Given the description of an element on the screen output the (x, y) to click on. 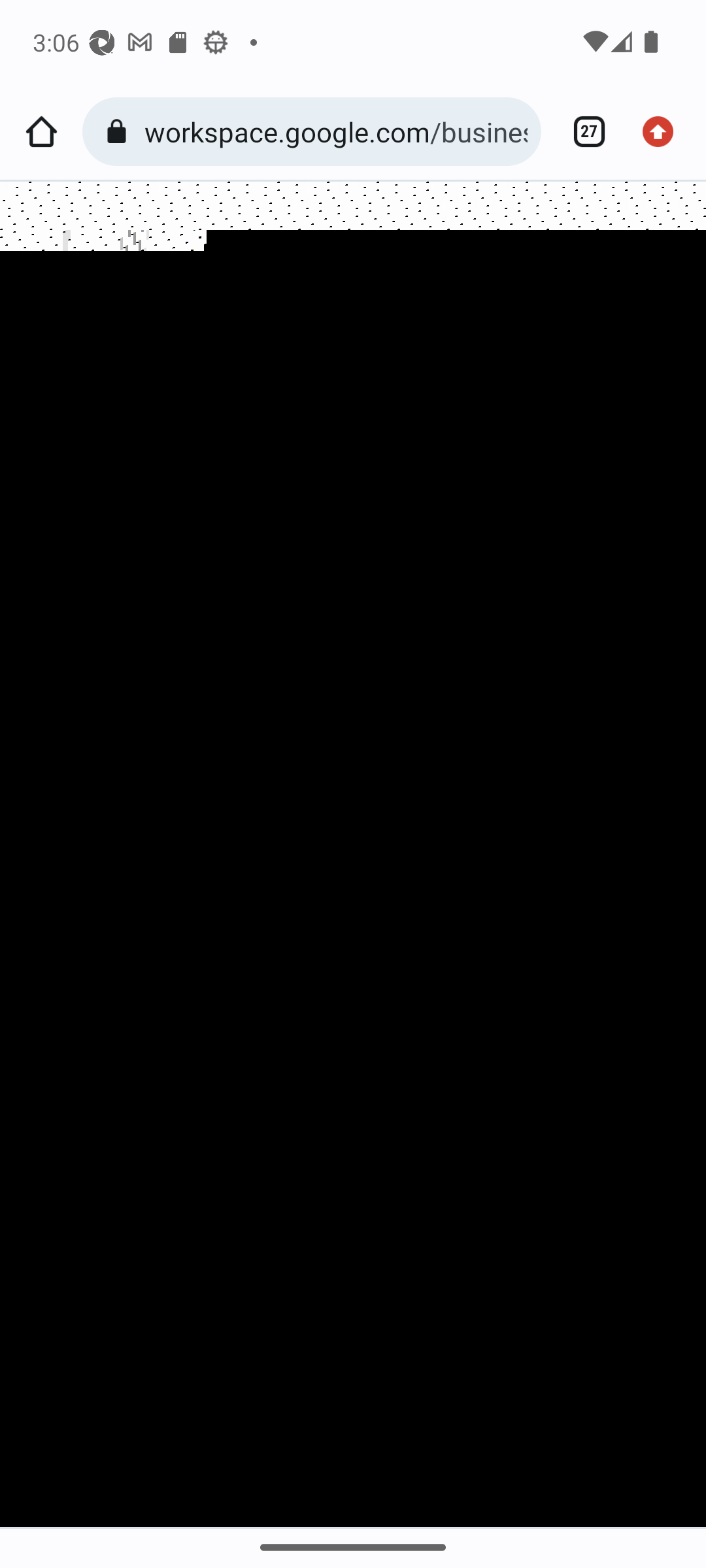
Home (41, 131)
Connection is secure (120, 131)
Switch or close tabs (582, 131)
Update available. More options (664, 131)
